Given the description of an element on the screen output the (x, y) to click on. 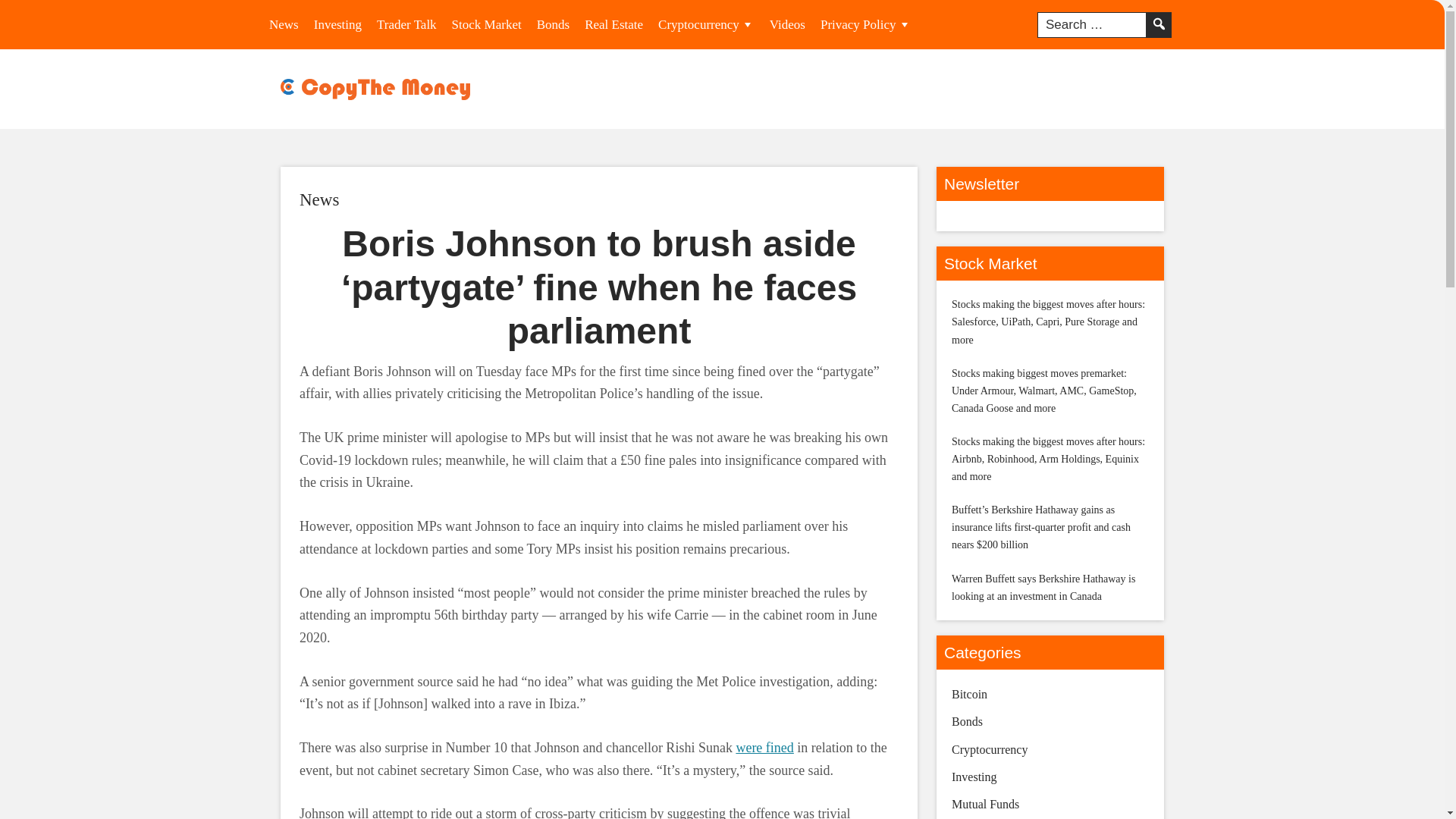
News (319, 199)
Investing (337, 24)
News (319, 199)
Privacy Policy (865, 24)
Videos (786, 24)
Stock Market (486, 24)
Trader Talk (406, 24)
Cryptocurrency (705, 24)
News (283, 24)
Bonds (552, 24)
Real Estate (613, 24)
were fined (764, 747)
